Given the description of an element on the screen output the (x, y) to click on. 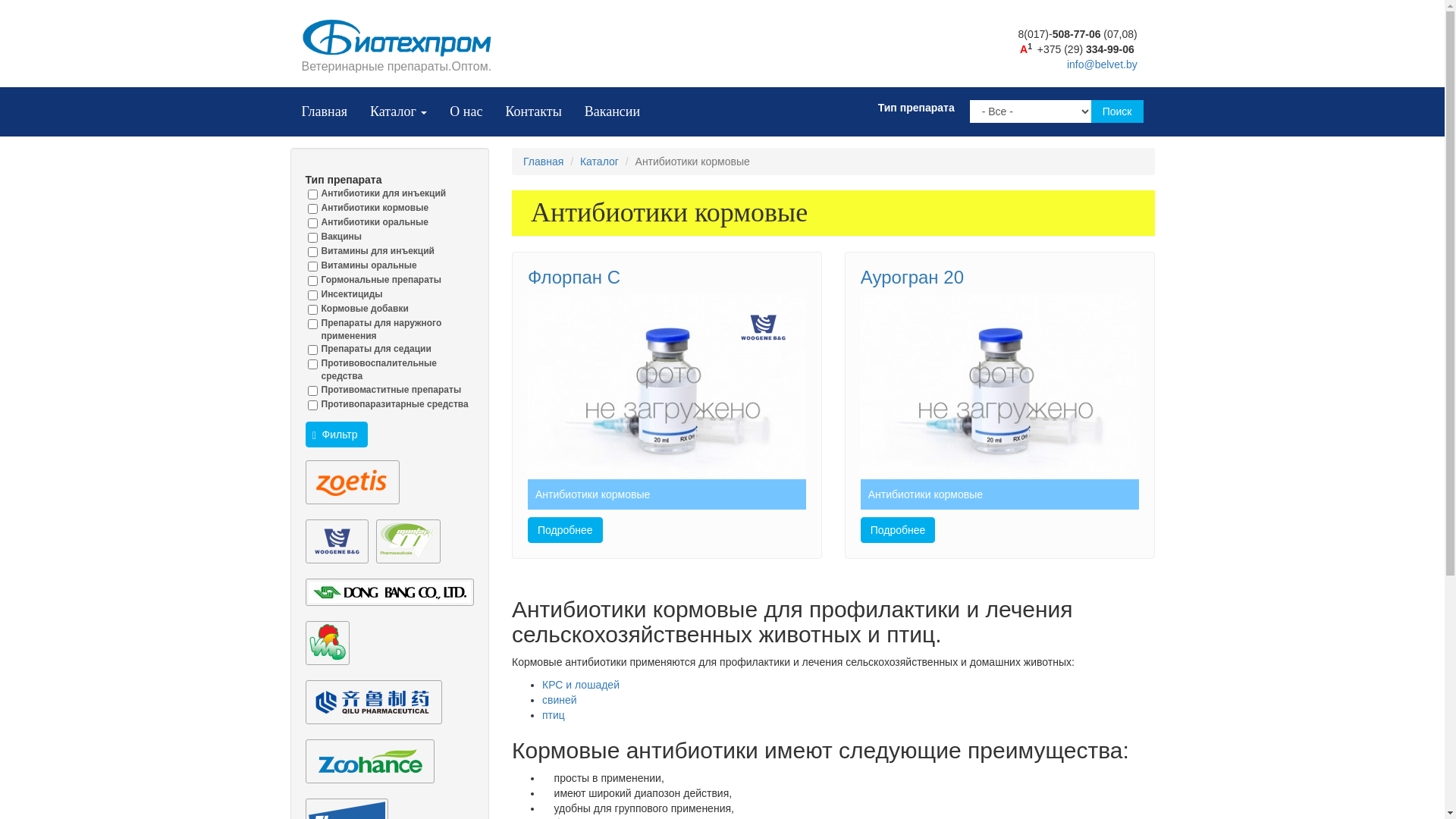
Ningxia Zoohance Biotech Element type: hover (368, 761)
info@belvet.by Element type: text (1101, 64)
Montajat Element type: hover (408, 541)
Woogene B&G Element type: hover (335, 541)
Qilu Animal Health Products Element type: hover (372, 702)
DONG BANG Element type: hover (388, 591)
Woogene B&G Element type: hover (762, 327)
Vemedim Corporation Element type: hover (326, 643)
Zoetis Element type: hover (351, 482)
